Given the description of an element on the screen output the (x, y) to click on. 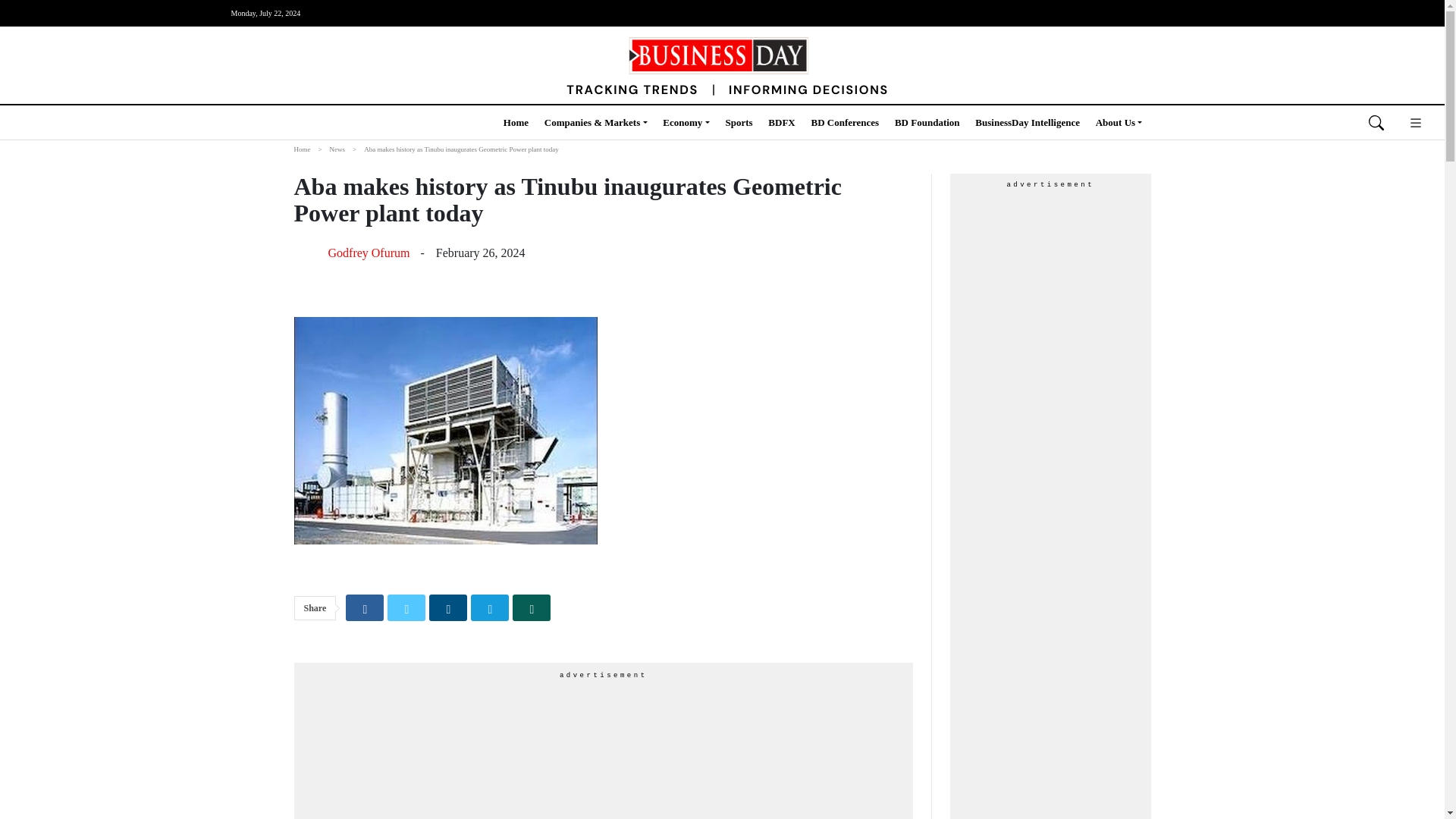
Economy (685, 122)
About Us (1119, 122)
Economy (685, 122)
BusinessDay Intelligence (1027, 122)
BD Foundation (927, 122)
BD Foundation (927, 122)
BusinessDay Intelligence (1027, 122)
BD Conferences (844, 122)
BD Conferences (844, 122)
About Us (1119, 122)
